Given the description of an element on the screen output the (x, y) to click on. 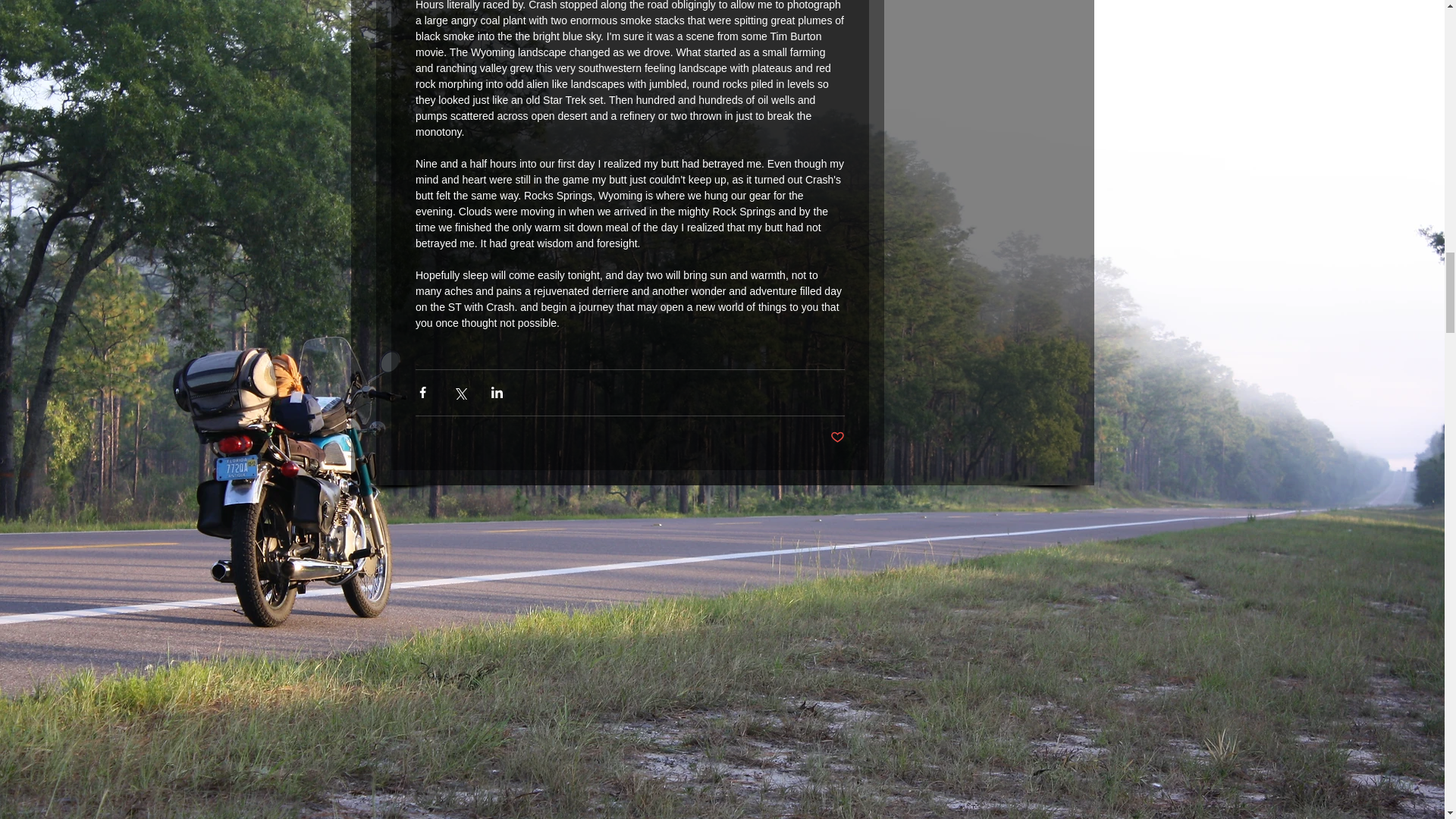
Post not marked as liked (836, 437)
